Given the description of an element on the screen output the (x, y) to click on. 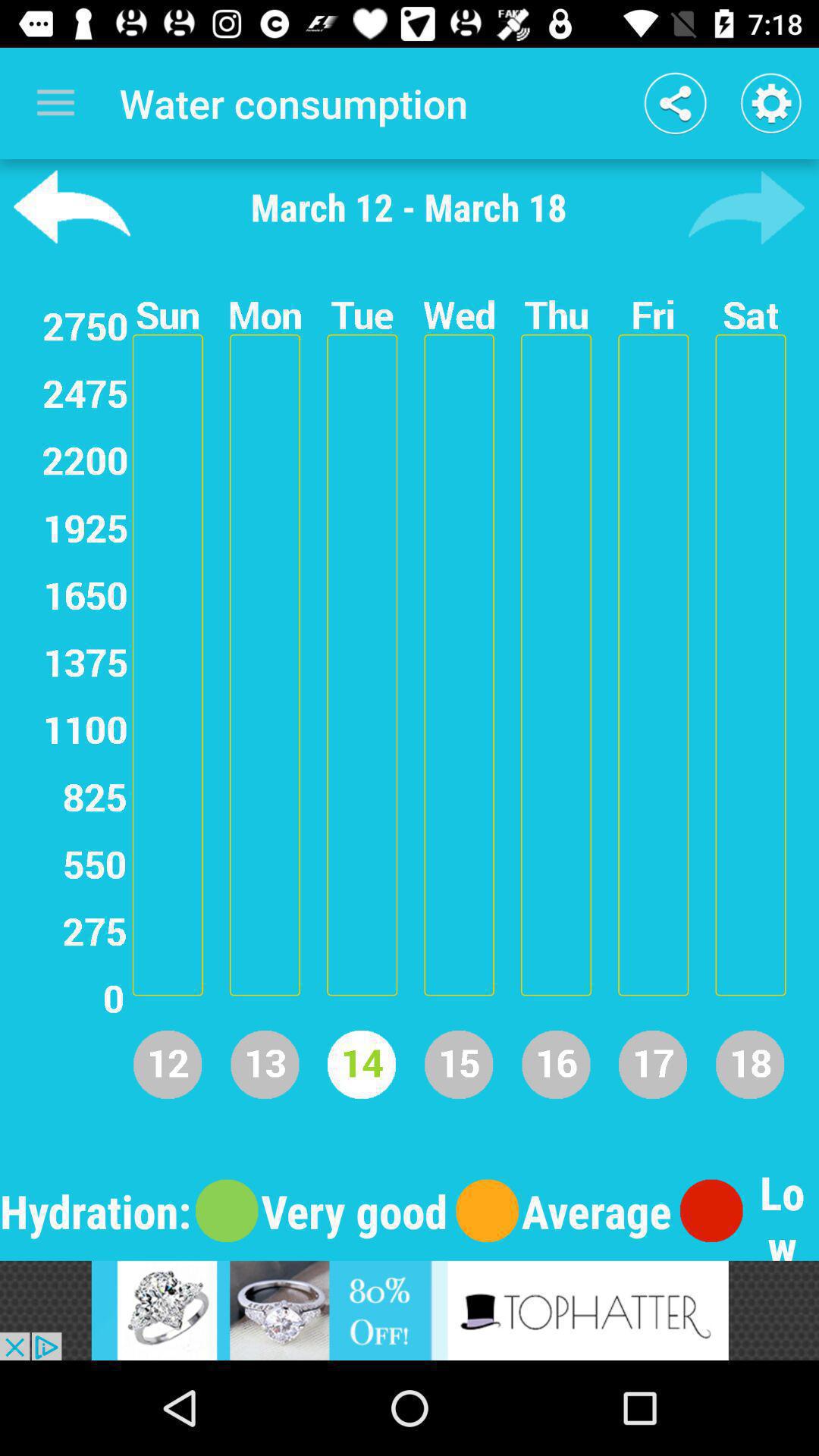
go to next week (746, 207)
